Given the description of an element on the screen output the (x, y) to click on. 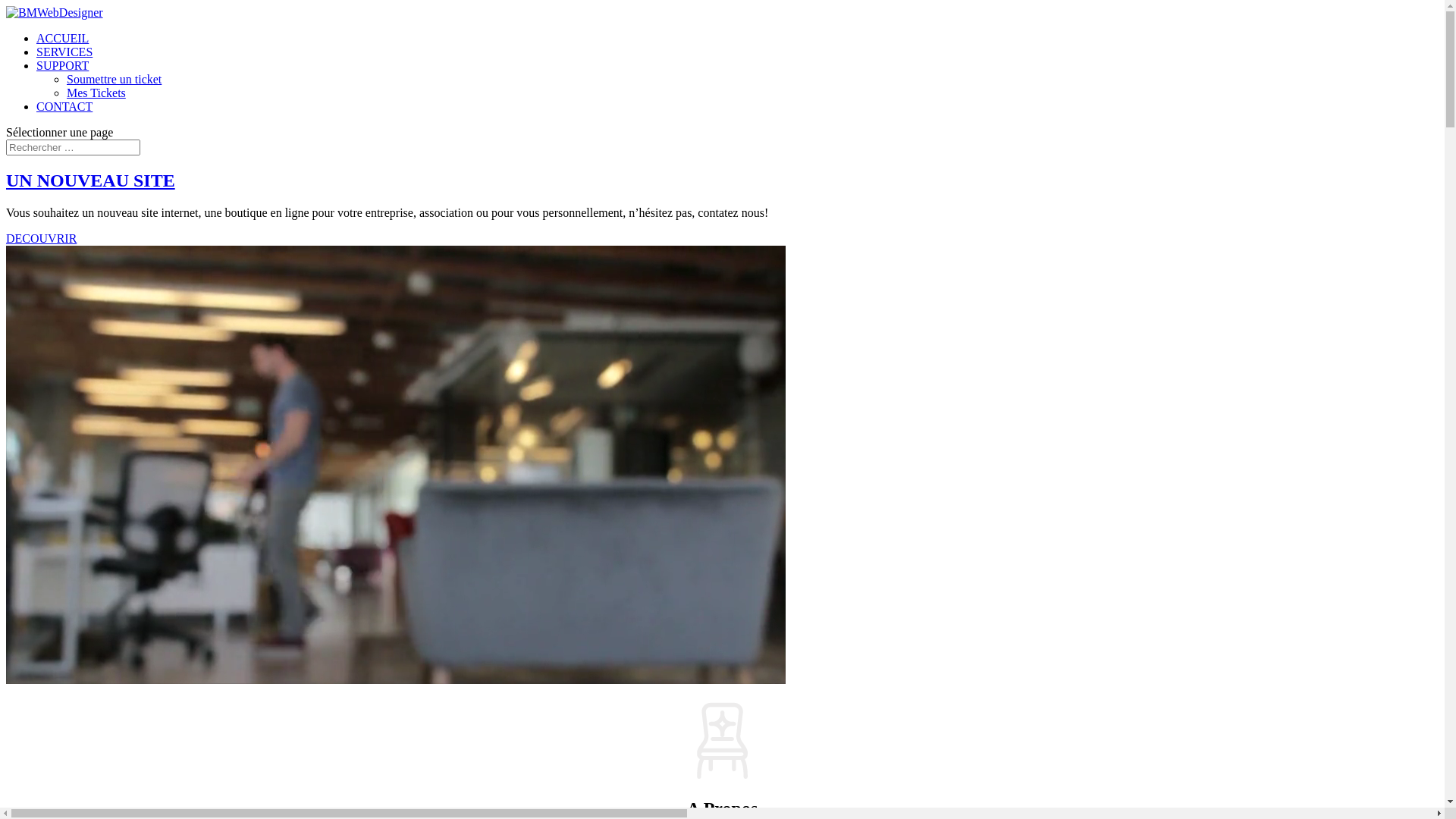
SERVICES Element type: text (64, 51)
Mes Tickets Element type: text (95, 92)
Rechercher: Element type: hover (73, 147)
CONTACT Element type: text (64, 106)
SUPPORT Element type: text (62, 65)
UN NOUVEAU SITE Element type: text (90, 180)
DECOUVRIR Element type: text (41, 238)
Soumettre un ticket Element type: text (113, 78)
ACCUEIL Element type: text (62, 37)
